Given the description of an element on the screen output the (x, y) to click on. 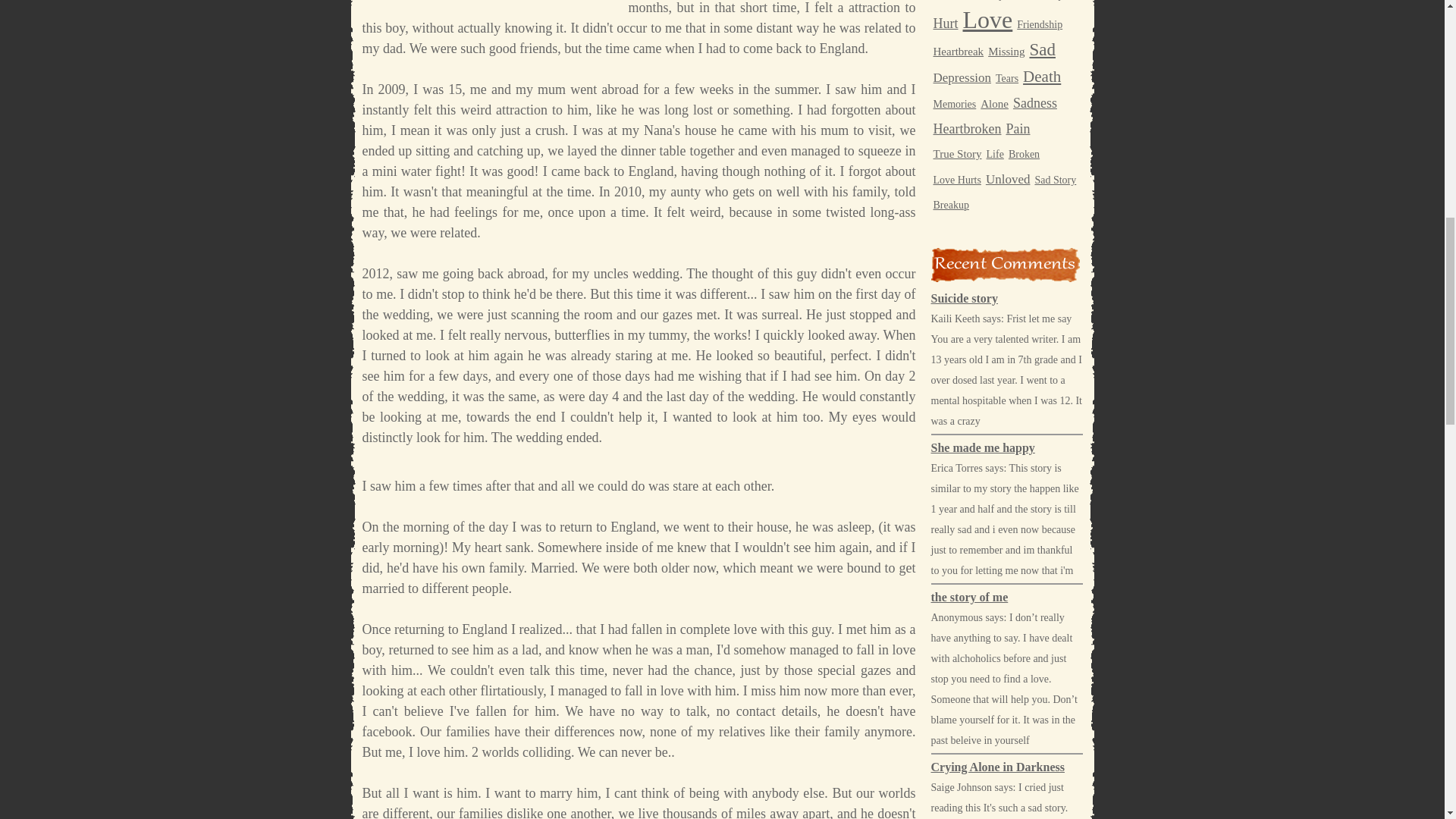
Advertisement (489, 2)
